Given the description of an element on the screen output the (x, y) to click on. 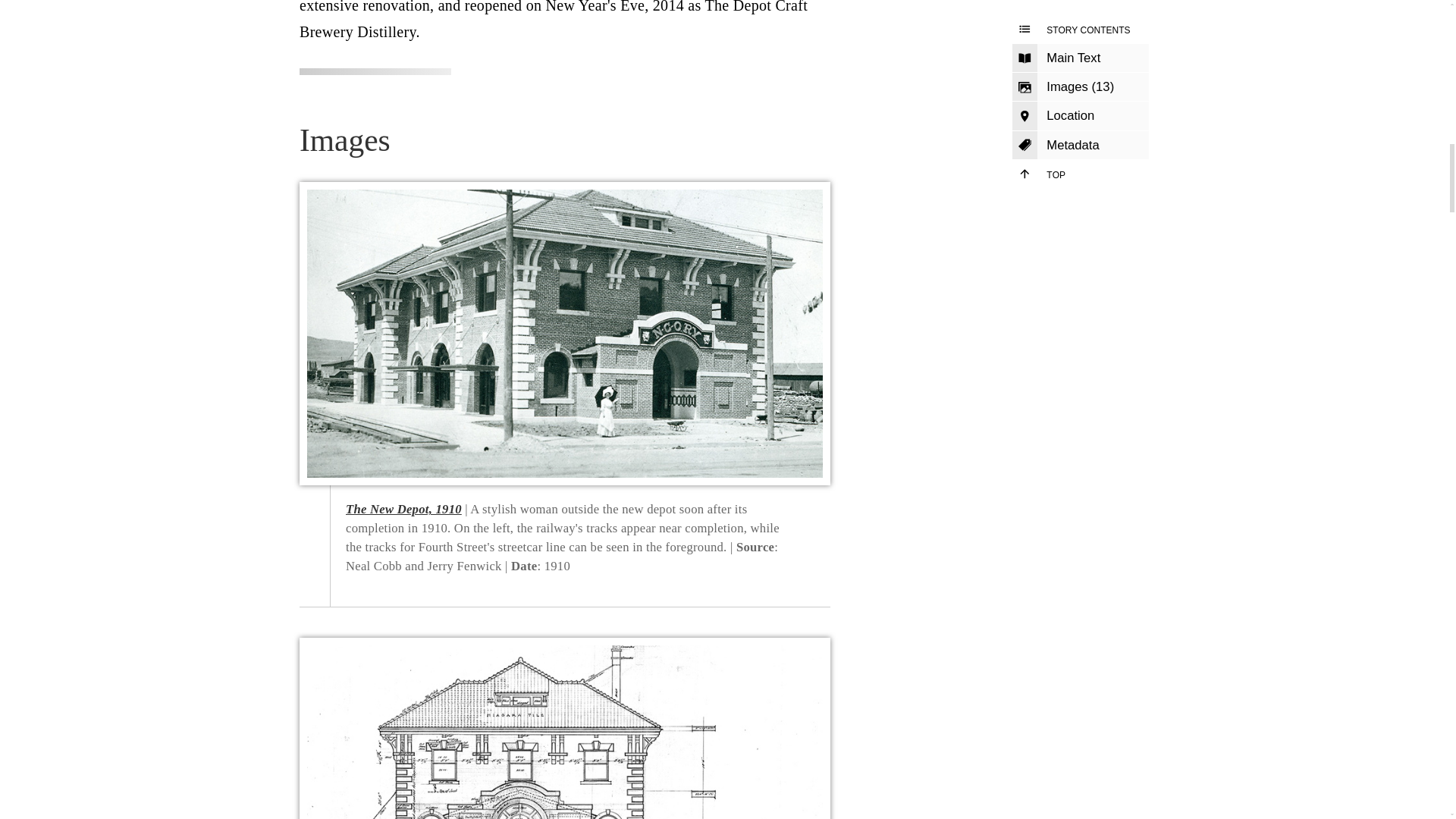
The New Depot, 1910 (403, 509)
